Given the description of an element on the screen output the (x, y) to click on. 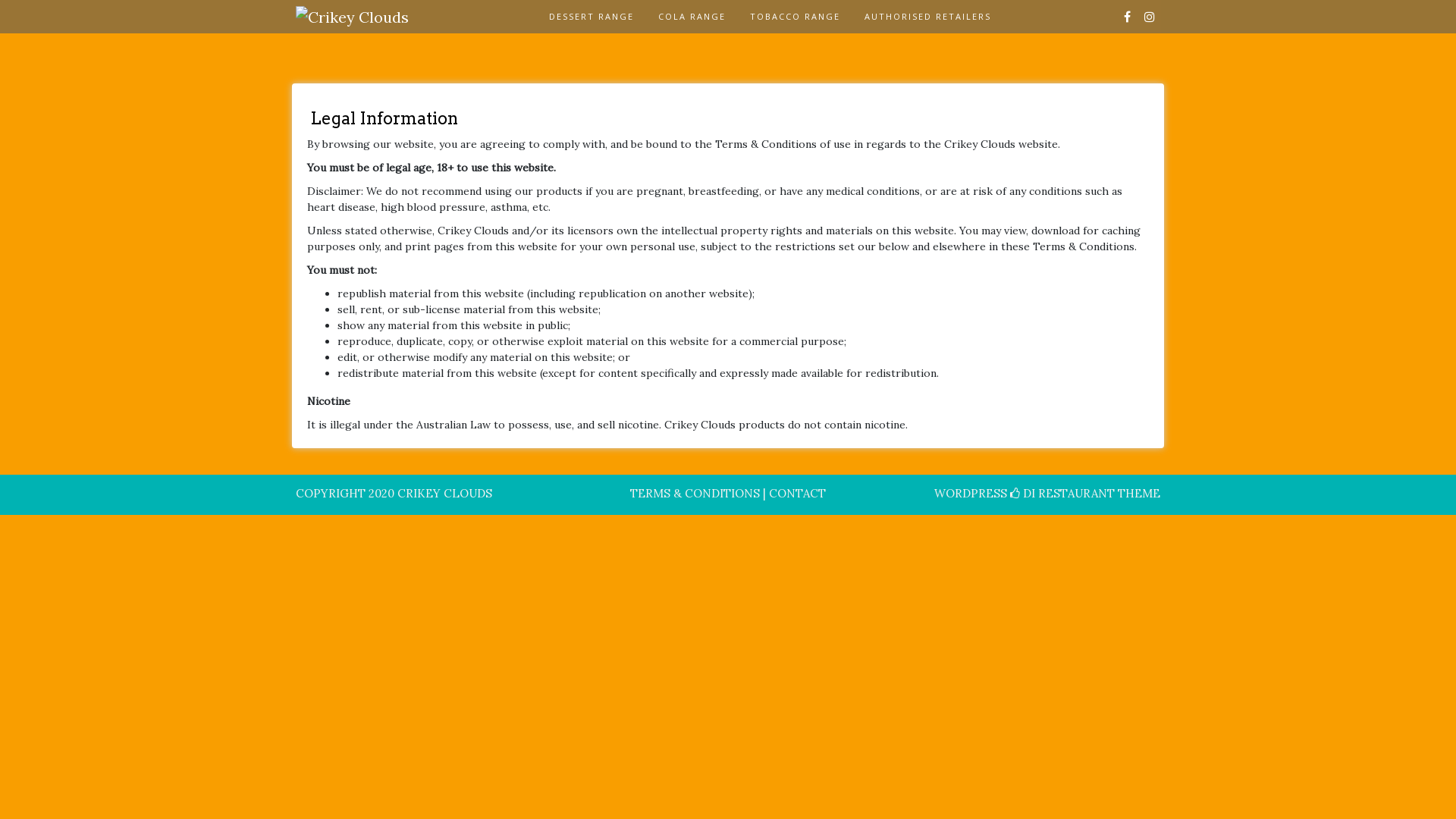
DESSERT RANGE Element type: text (591, 16)
COLA RANGE Element type: text (691, 16)
DI RESTAURANT Element type: text (1062, 493)
CONTACT Element type: text (796, 493)
TOBACCO RANGE Element type: text (794, 16)
TERMS & CONDITIONS Element type: text (694, 493)
AUTHORISED RETAILERS Element type: text (927, 16)
